Given the description of an element on the screen output the (x, y) to click on. 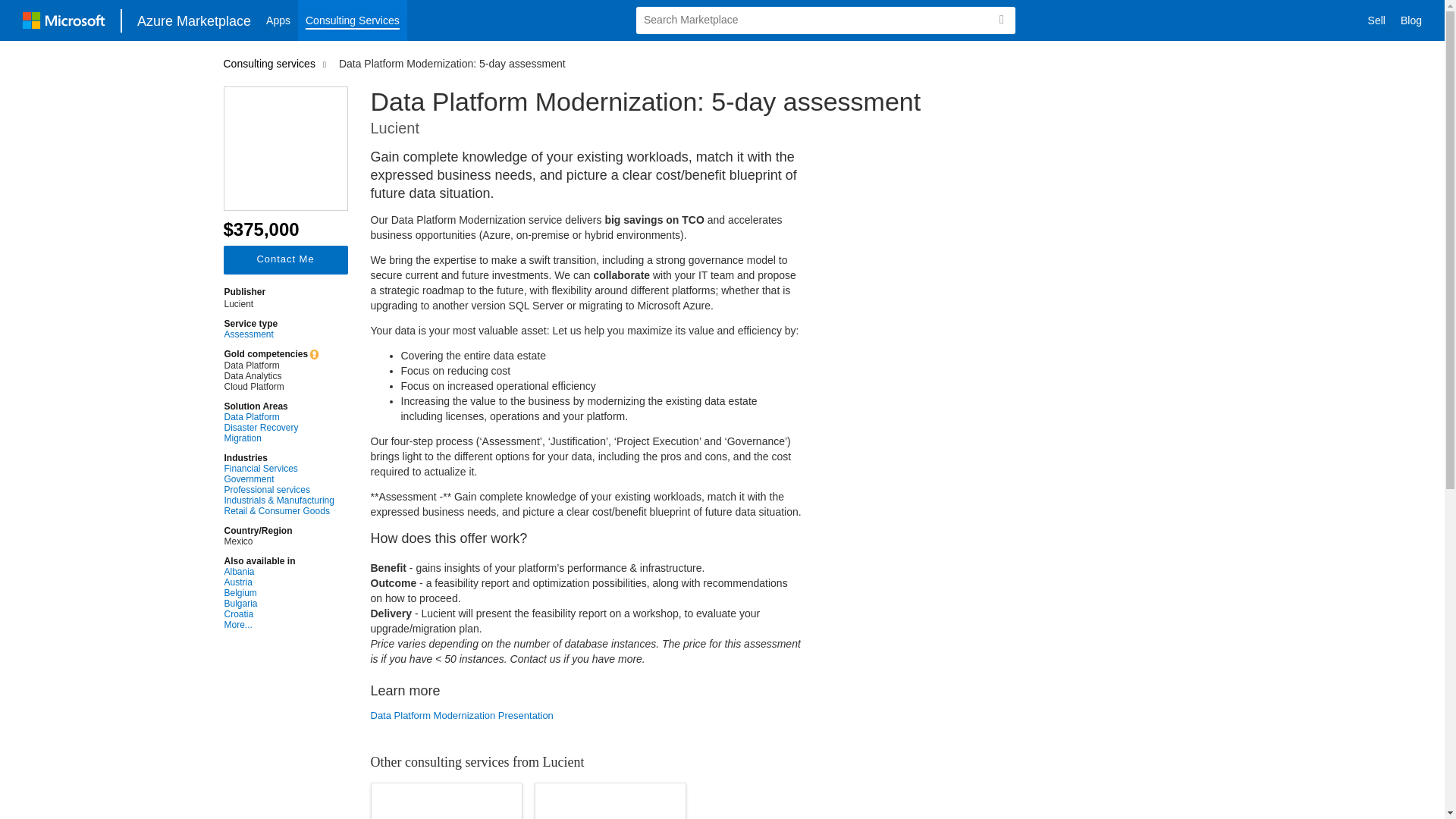
Croatia (279, 614)
Contact Me (284, 259)
Disaster Recovery (279, 427)
Bulgaria (279, 603)
Professional services (279, 489)
Belgium (279, 593)
Financial Services (279, 468)
Albania (279, 571)
Apps (278, 20)
Consulting services (271, 63)
Government (279, 479)
Blog (1411, 20)
Austria (279, 582)
Search (1001, 19)
Data Platform (279, 416)
